Given the description of an element on the screen output the (x, y) to click on. 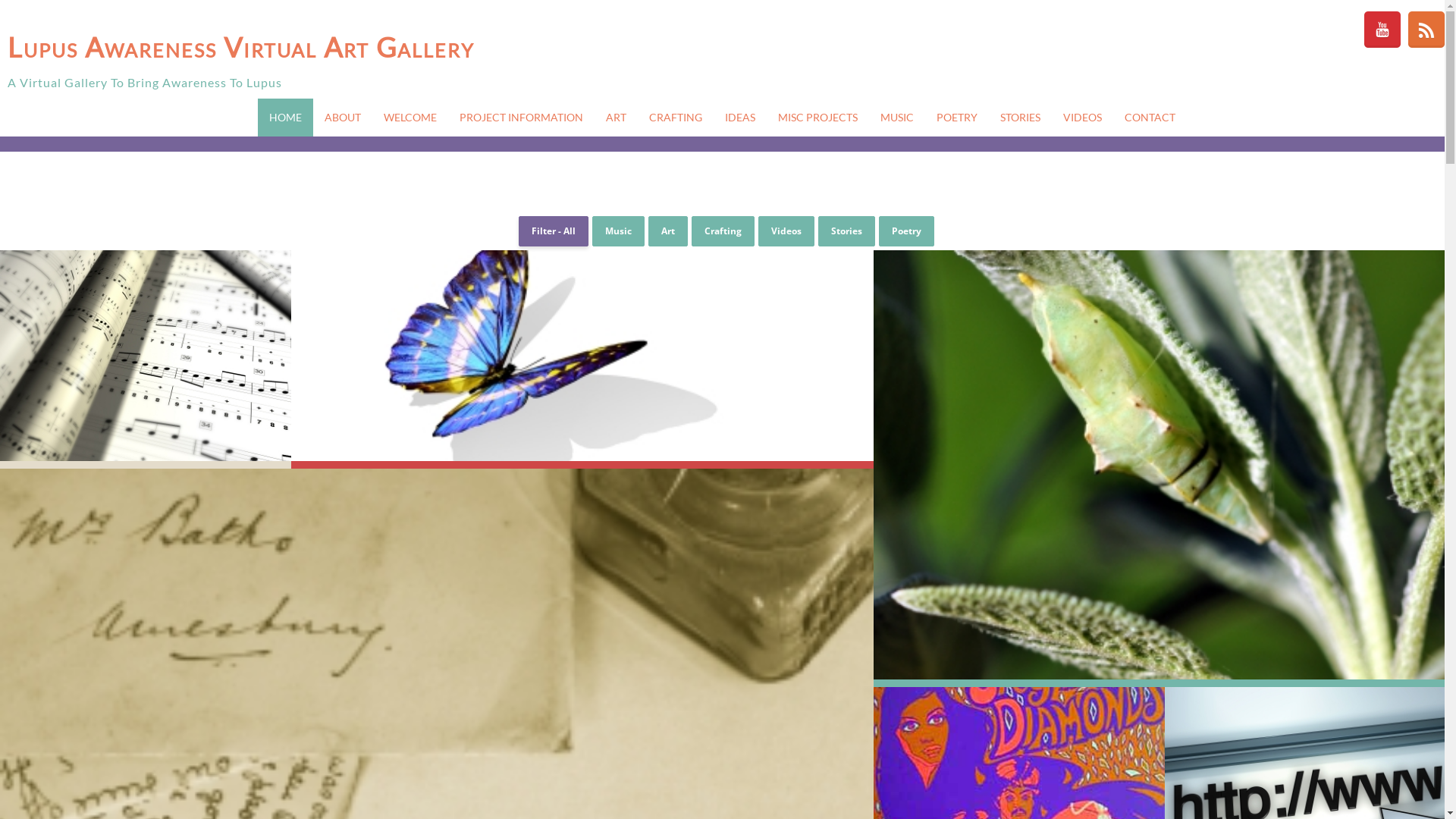
RSS Element type: hover (1426, 29)
YouTube Element type: hover (1382, 29)
MISC PROJECTS Element type: text (817, 117)
MUSIC Element type: text (897, 117)
VIDEOS Element type: text (1082, 117)
CRAFTING Element type: text (675, 117)
PROJECT INFORMATION Element type: text (521, 117)
WELCOME Element type: text (410, 117)
ABOUT Element type: text (342, 117)
IDEAS Element type: text (739, 117)
Lupus Awareness Virtual Art Gallery Element type: text (327, 46)
ART Element type: text (615, 117)
HOME Element type: text (285, 117)
CONTACT Element type: text (1149, 117)
STORIES Element type: text (1019, 117)
POETRY Element type: text (956, 117)
